Given the description of an element on the screen output the (x, y) to click on. 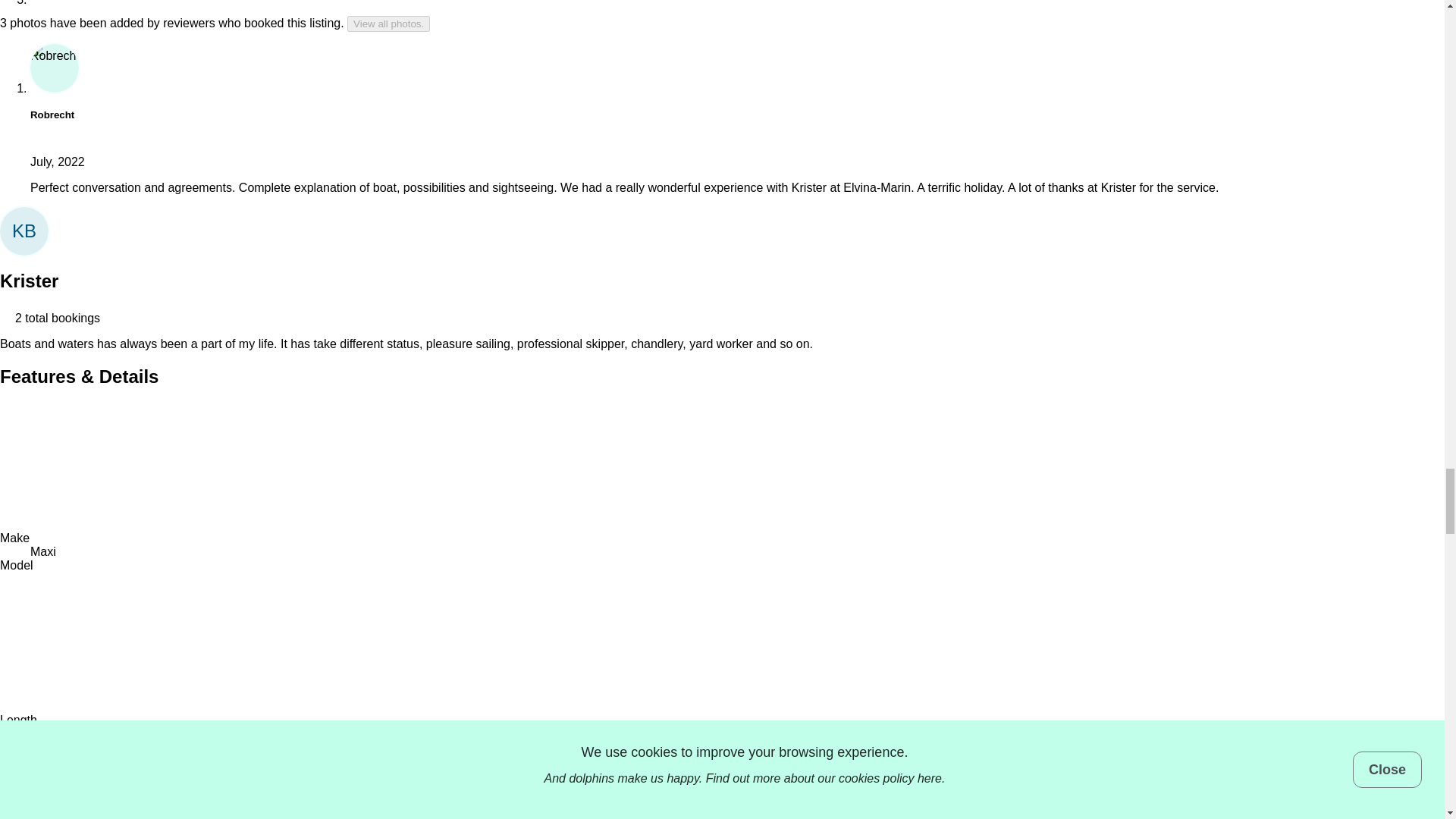
View all photos. (388, 23)
